Given the description of an element on the screen output the (x, y) to click on. 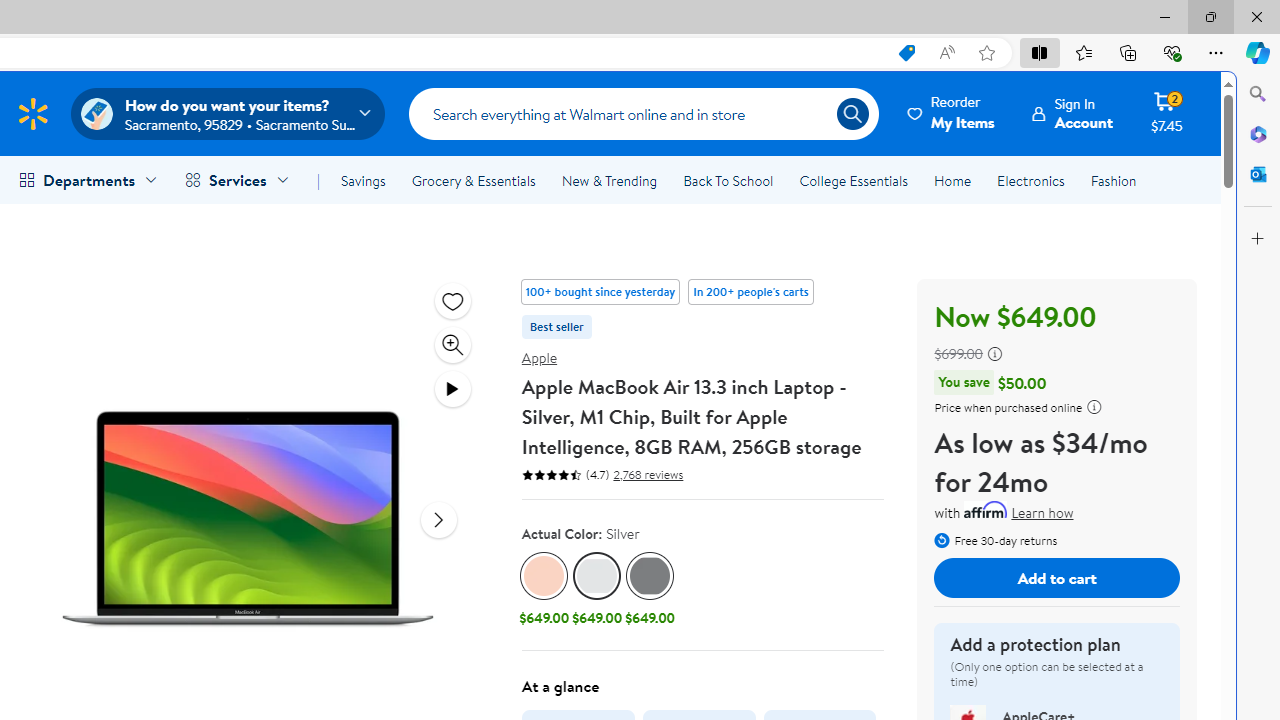
View video (452, 388)
2,768 reviews (646, 474)
College Essentials (852, 180)
Savings (363, 180)
Space Gray, $649.00 (650, 591)
Electronics (1030, 180)
Silver (597, 575)
Reorder My Items (952, 113)
Grocery & Essentials (473, 180)
Fashion (1113, 180)
Savings (363, 180)
Cart contains 2 items Total Amount $7.45 (1166, 113)
